Given the description of an element on the screen output the (x, y) to click on. 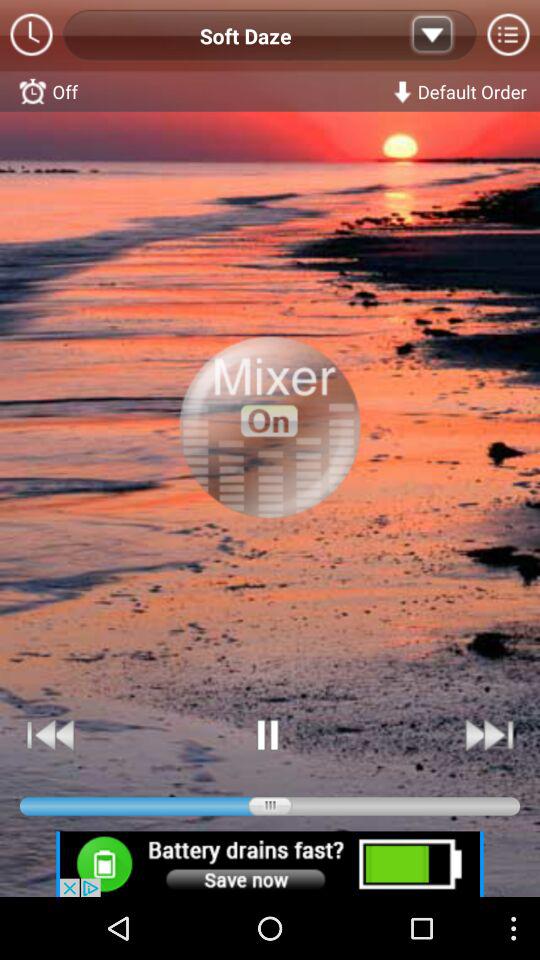
option below screen for saving battery life (270, 864)
